Given the description of an element on the screen output the (x, y) to click on. 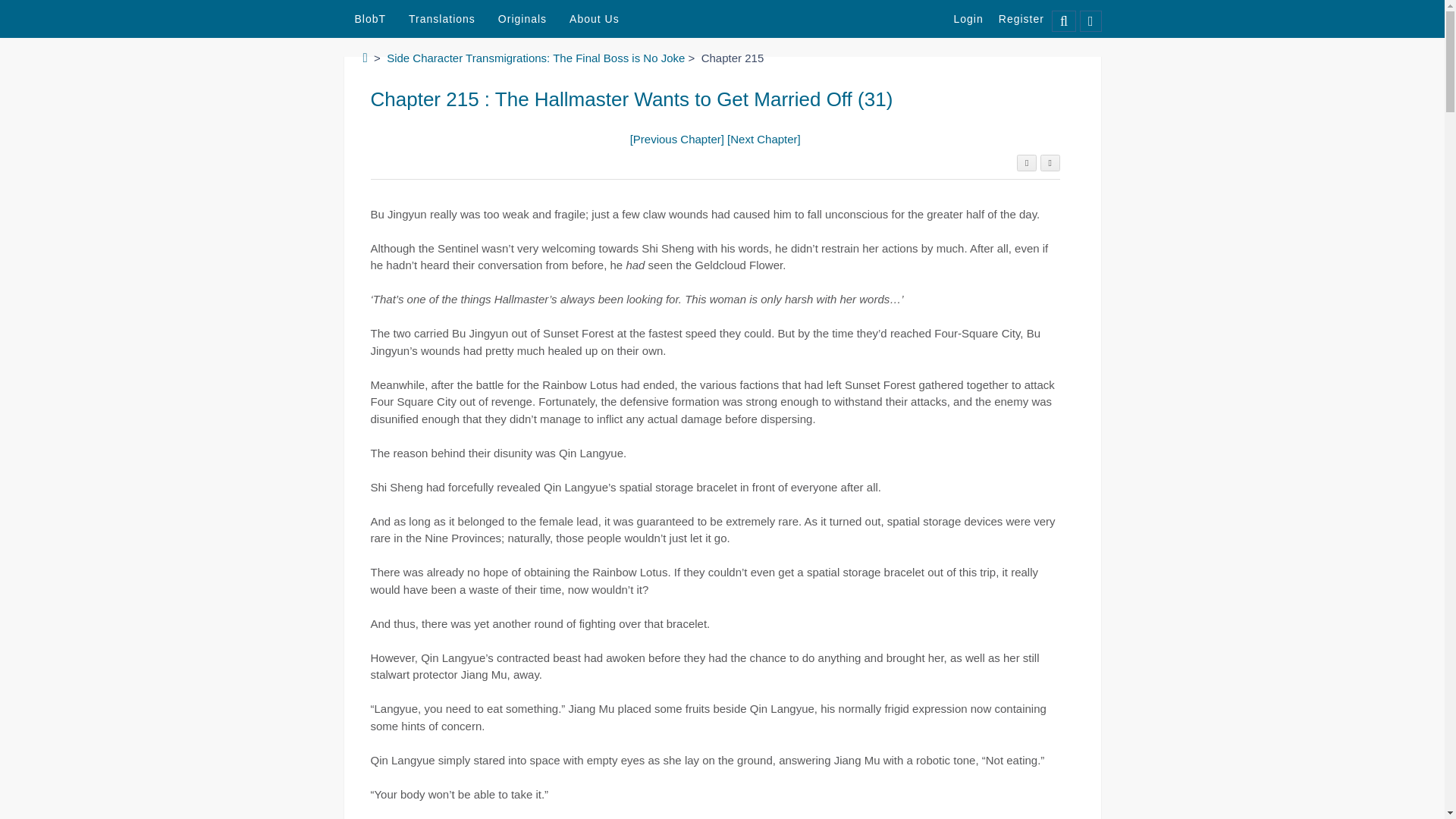
Reader Settings (1050, 162)
Side Character Transmigrations: The Final Boss is No Joke (535, 57)
Login (968, 18)
Originals (521, 19)
About Us (593, 19)
Translations (441, 19)
BlobT (369, 19)
Table of Contents (1026, 162)
Register (1021, 18)
